Given the description of an element on the screen output the (x, y) to click on. 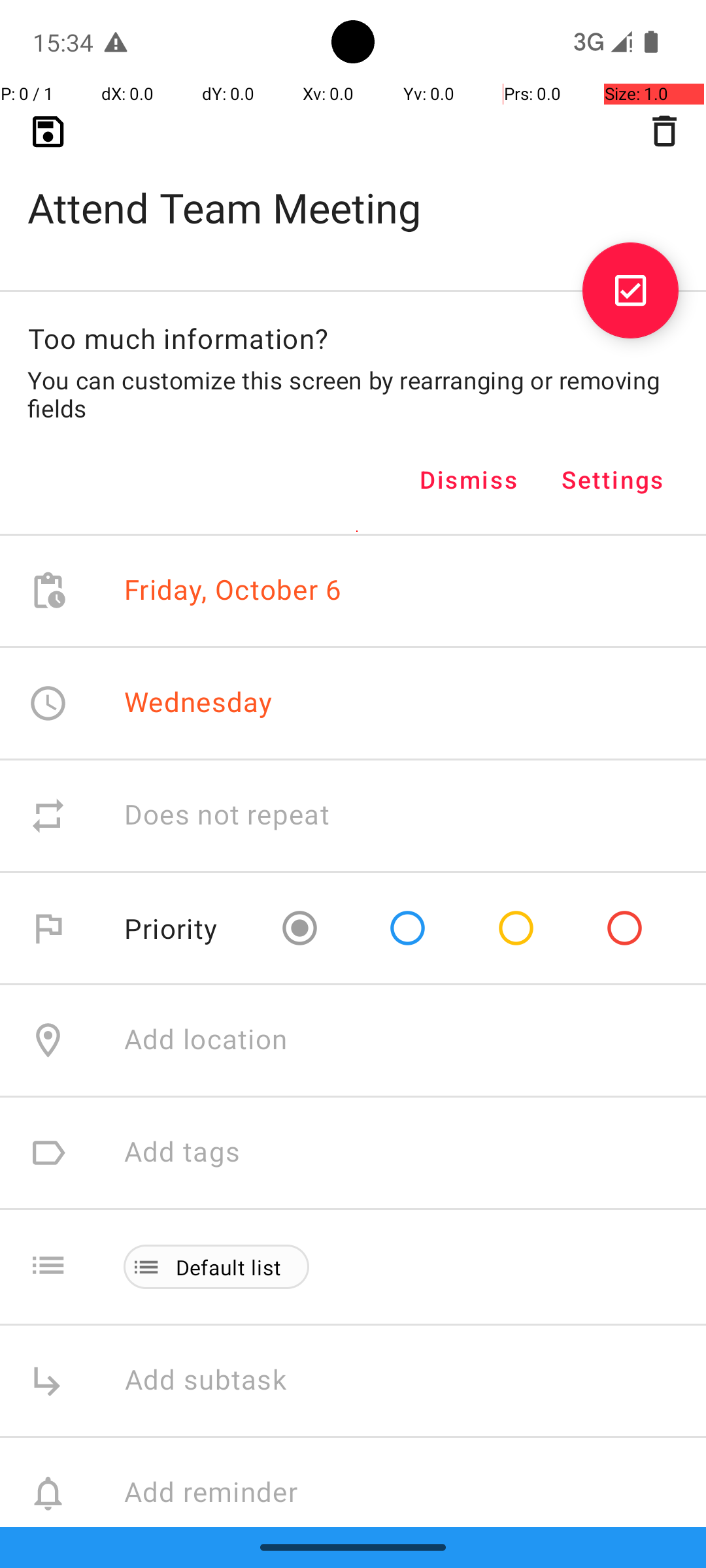
Attend Team Meeting Element type: android.widget.EditText (353, 186)
Friday, October 6 Element type: android.widget.TextView (232, 590)
